Given the description of an element on the screen output the (x, y) to click on. 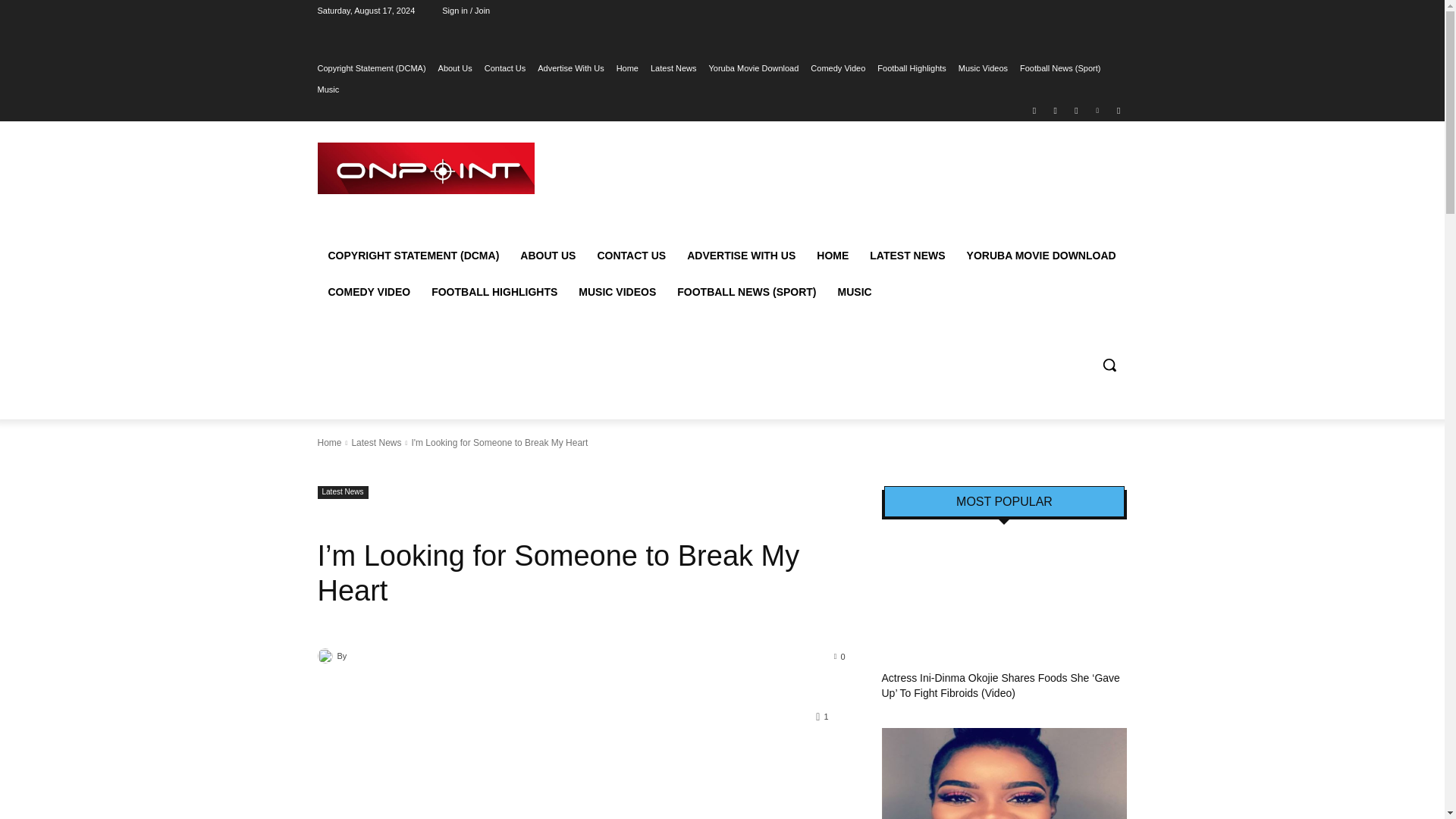
Yoruba Movie Download (754, 67)
Football Highlights (911, 67)
Twitter (1075, 109)
Facebook (1034, 109)
ABOUT US (547, 255)
Advertise With Us (570, 67)
Music (328, 88)
View all posts in Latest News (375, 442)
Vimeo (1097, 109)
About Us (454, 67)
